Given the description of an element on the screen output the (x, y) to click on. 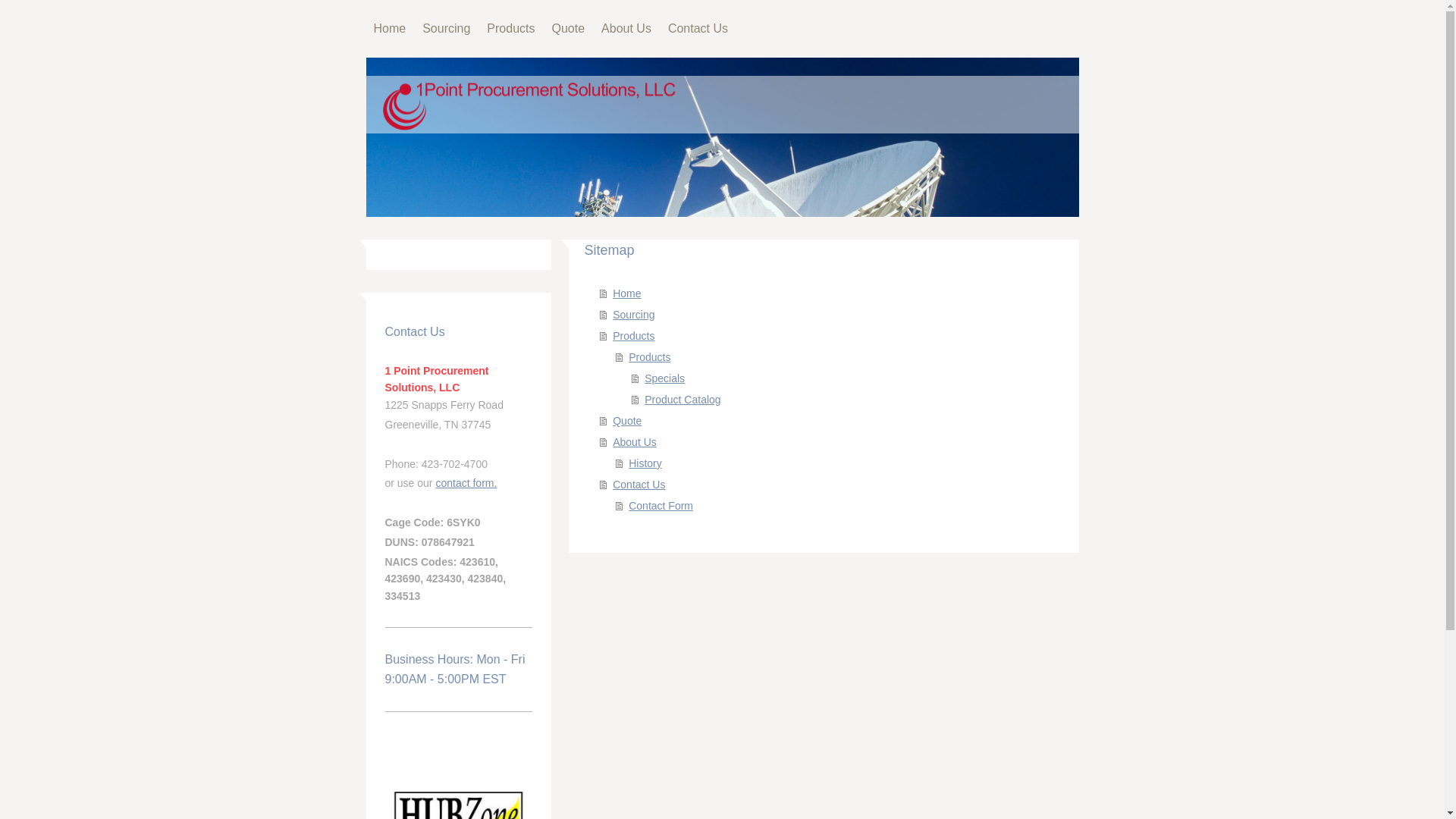
History Element type: text (839, 462)
Quote Element type: text (567, 28)
Products Element type: text (510, 28)
Quote Element type: text (831, 420)
About Us Element type: text (625, 28)
Contact Us Element type: text (831, 484)
Sourcing Element type: text (831, 314)
Specials Element type: text (847, 378)
Home Element type: text (831, 293)
Products Element type: text (839, 356)
Home Element type: text (389, 28)
Product Catalog Element type: text (847, 399)
Sourcing Element type: text (445, 28)
About Us Element type: text (831, 441)
Contact Form Element type: text (839, 505)
Contact Us Element type: text (697, 28)
Products Element type: text (831, 335)
